Given the description of an element on the screen output the (x, y) to click on. 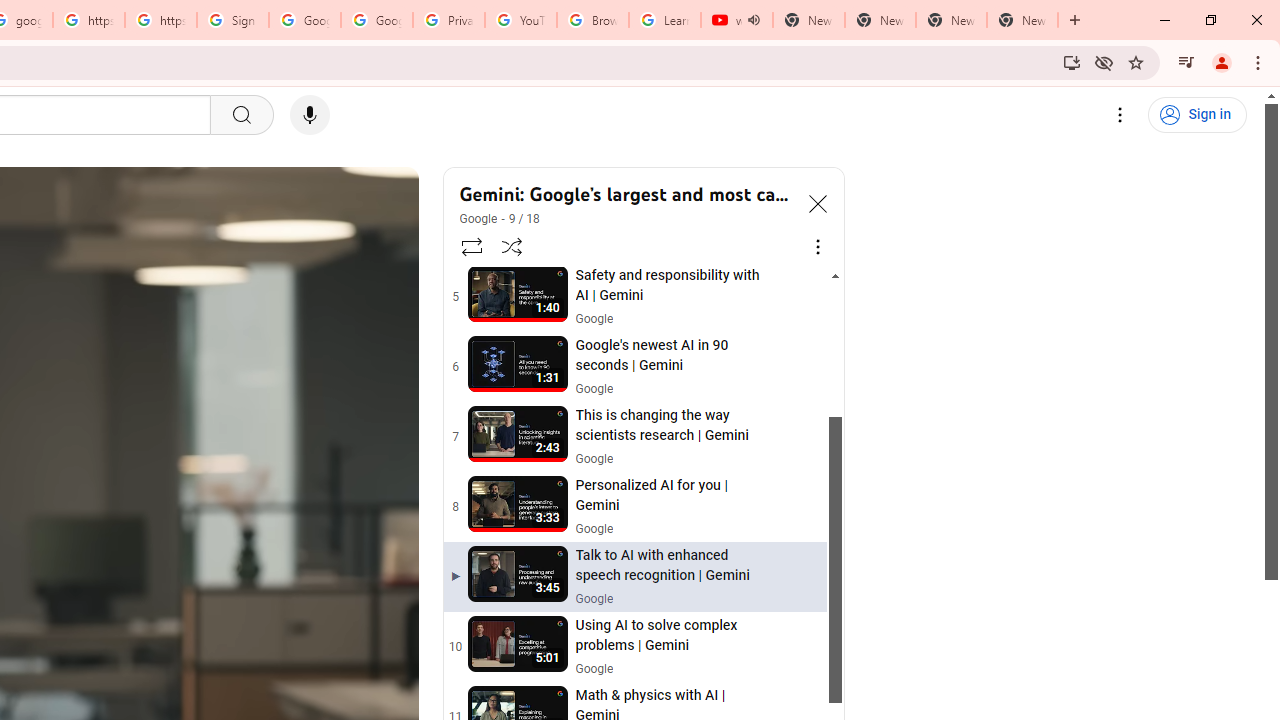
Shuffle playlist (511, 246)
Browse Chrome as a guest - Computer - Google Chrome Help (592, 20)
Collapse (817, 202)
New Tab (1022, 20)
Loop playlist (470, 246)
https://scholar.google.com/ (88, 20)
https://scholar.google.com/ (161, 20)
